Given the description of an element on the screen output the (x, y) to click on. 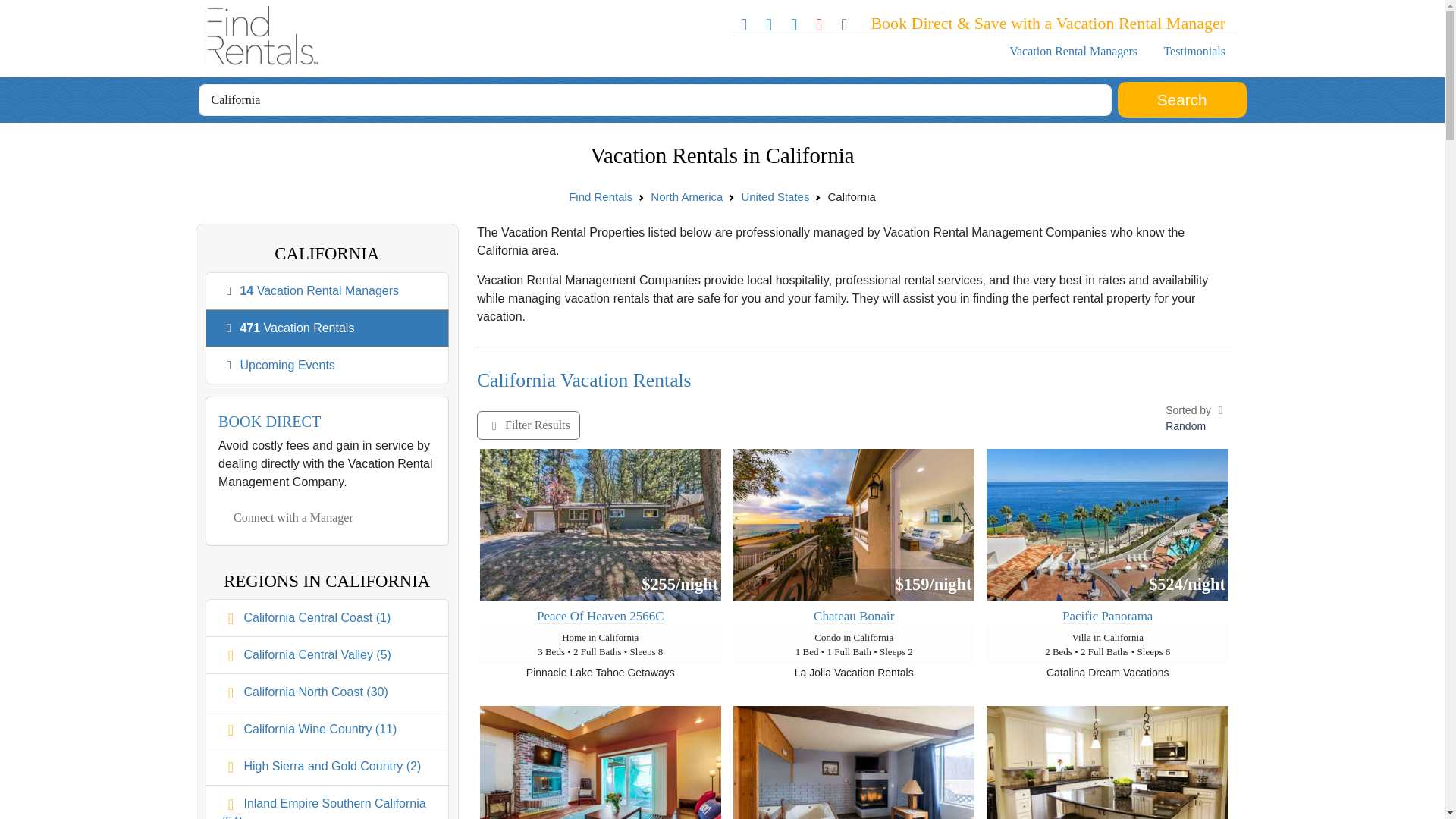
471 Vacation Rentals (296, 327)
Find Rentals (600, 196)
Search (1182, 99)
North America (686, 196)
Connect with a Manager (293, 517)
California (655, 100)
United States (775, 196)
Testimonials (1194, 51)
Upcoming Events (287, 364)
14 Vacation Rental Managers (319, 290)
California (655, 100)
Vacation Rental Managers (1073, 51)
